Given the description of an element on the screen output the (x, y) to click on. 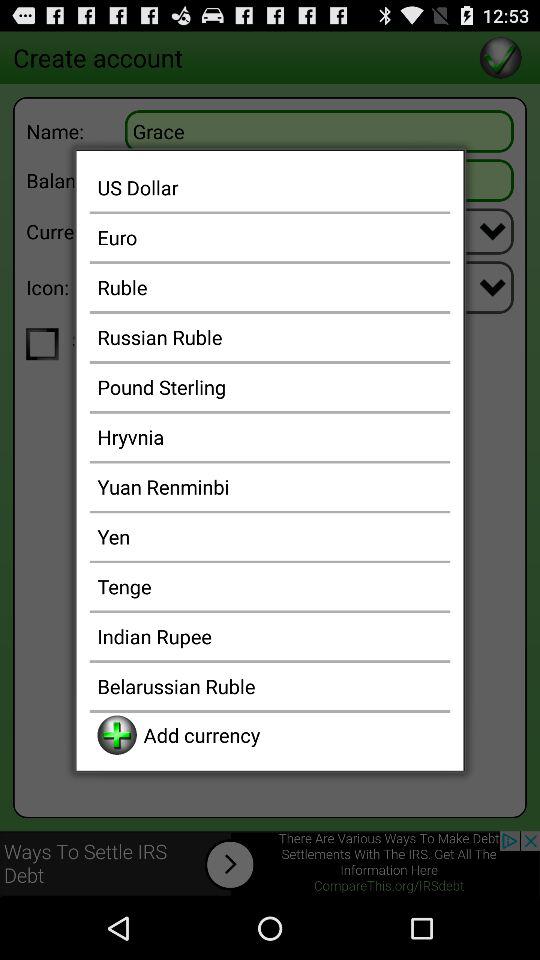
tap app below pound sterling app (269, 436)
